Given the description of an element on the screen output the (x, y) to click on. 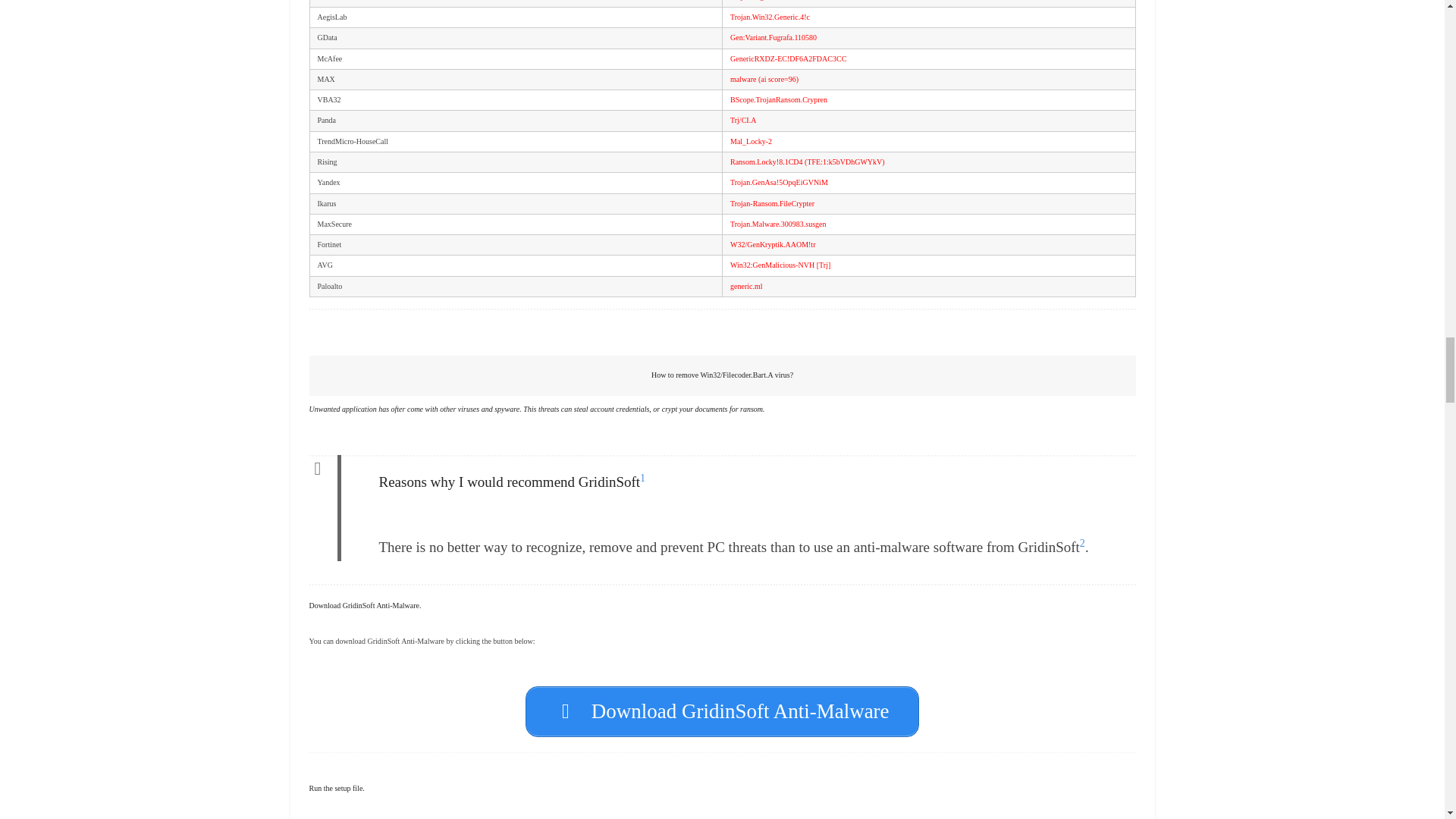
Download GridinSoft Anti-Malware (721, 711)
